Given the description of an element on the screen output the (x, y) to click on. 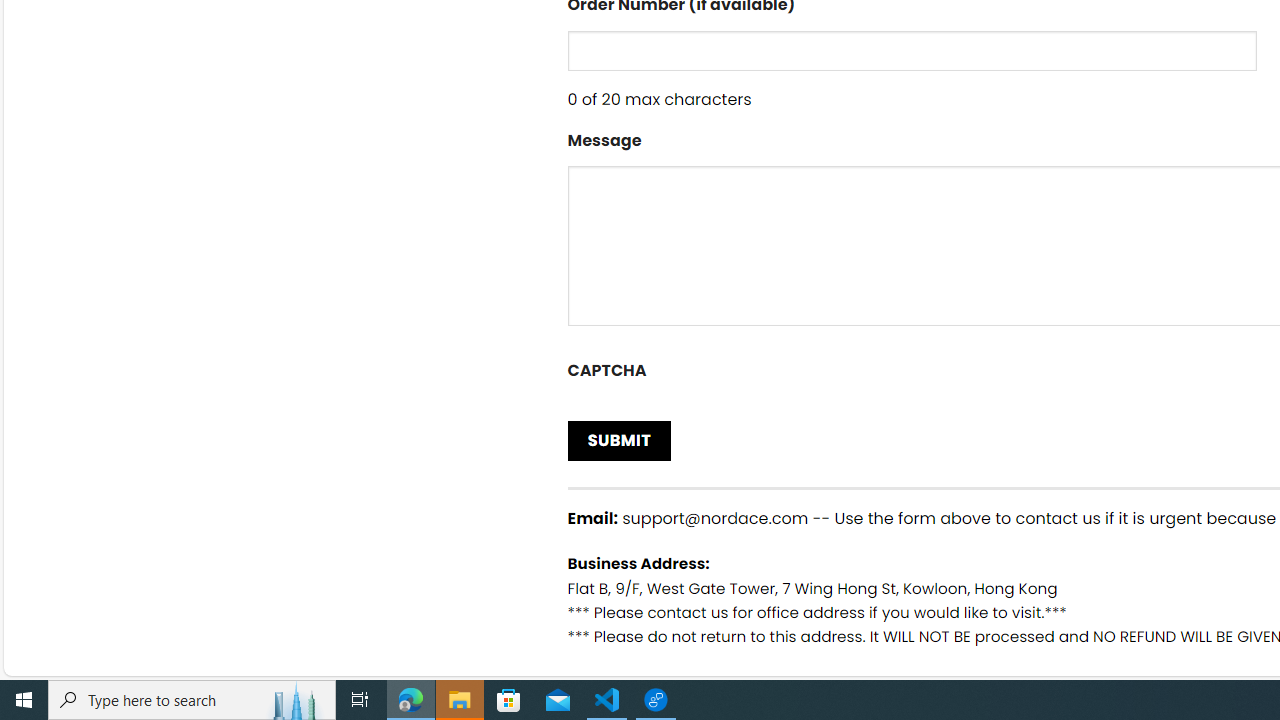
Order Number (if available) (911, 50)
Submit (619, 439)
